Given the description of an element on the screen output the (x, y) to click on. 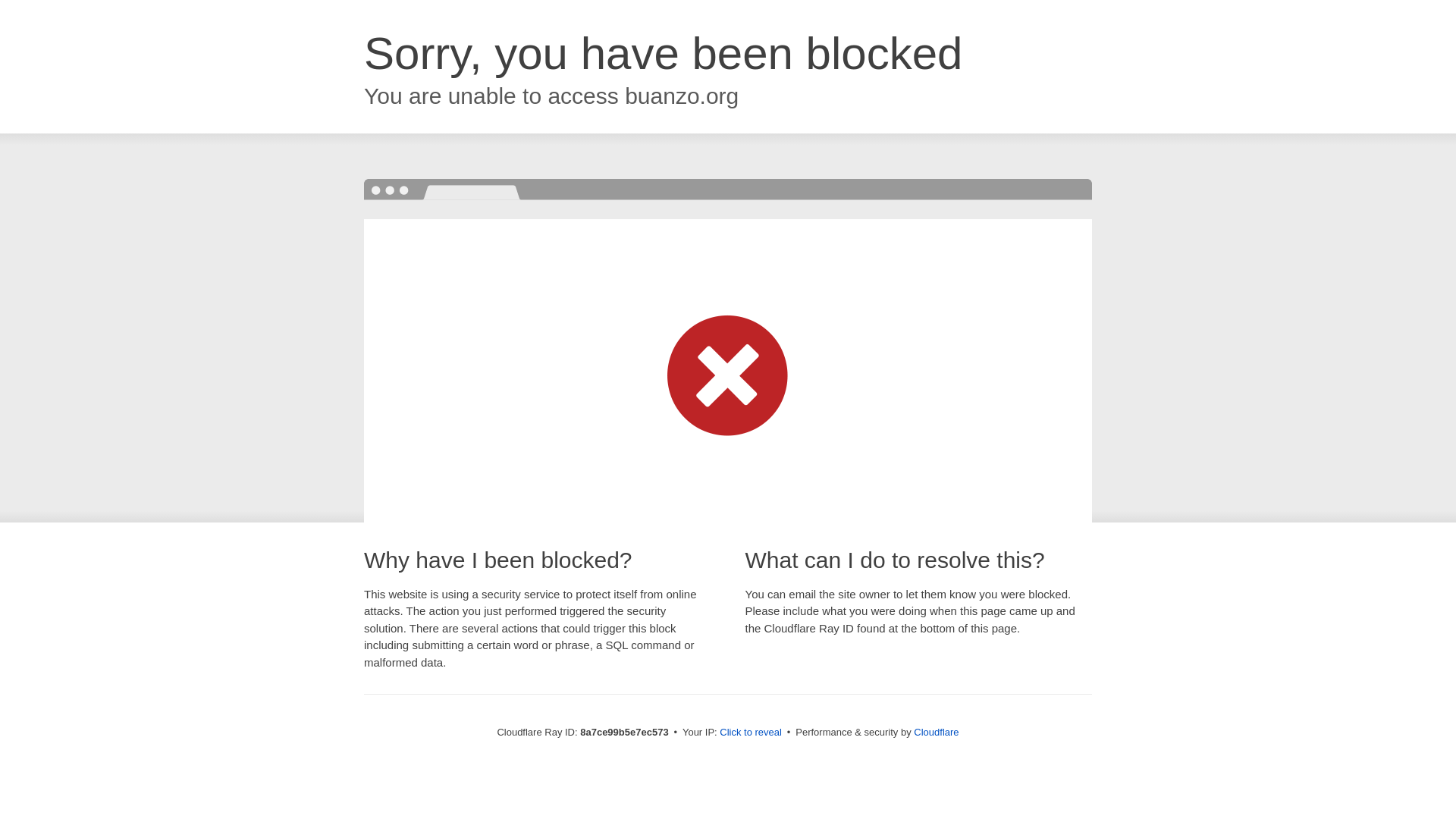
Click to reveal (750, 732)
Cloudflare (936, 731)
